Given the description of an element on the screen output the (x, y) to click on. 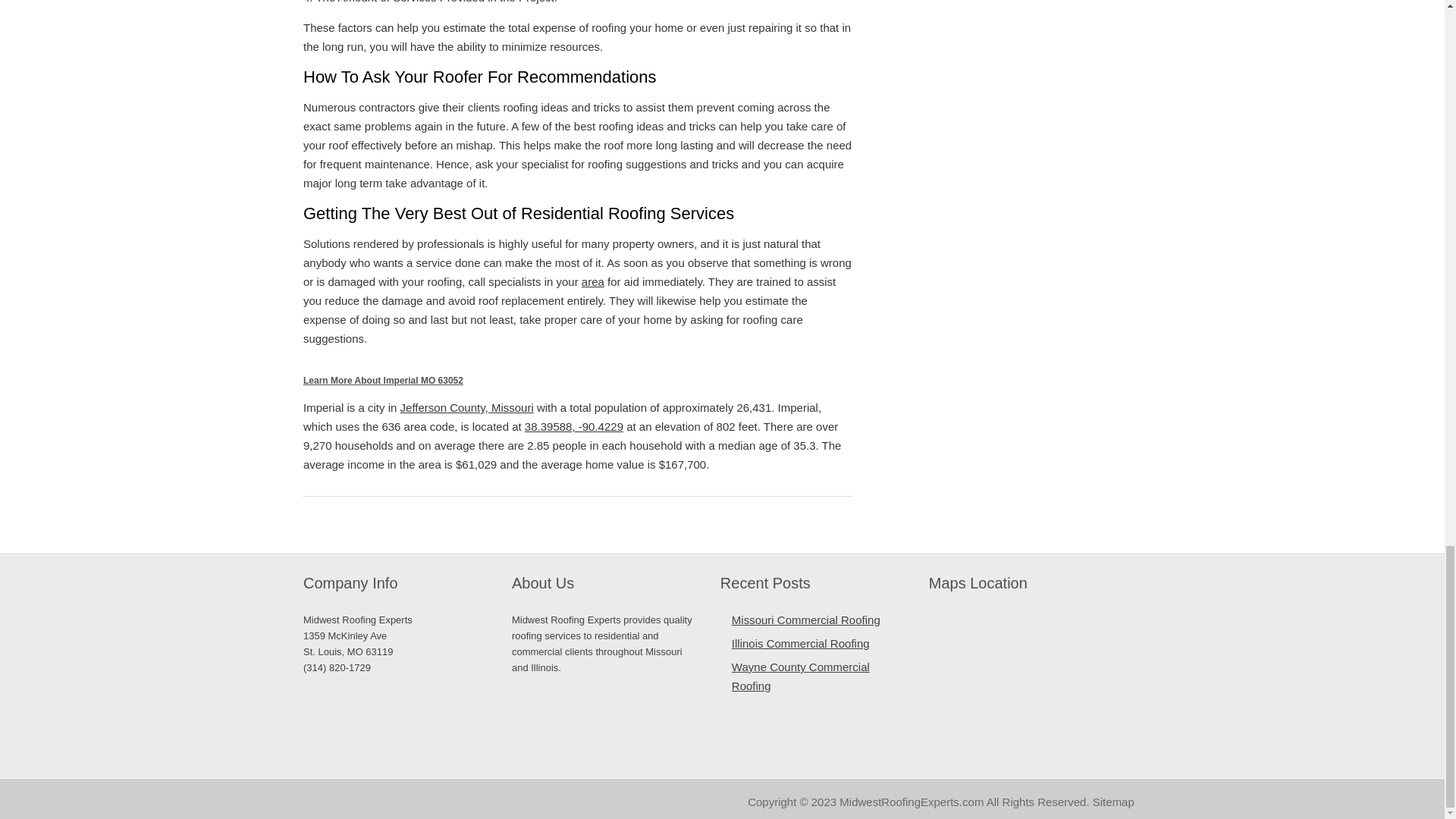
Illinois Commercial Roofing (800, 643)
38.39588, -90.4229 (573, 426)
Learn More About Imperial MO 63052 (382, 380)
Sitemap (1113, 801)
area (592, 281)
Jefferson County, Missouri (467, 407)
Wayne County Commercial Roofing (800, 676)
Facebook (311, 801)
Missouri Commercial Roofing (806, 619)
